Given the description of an element on the screen output the (x, y) to click on. 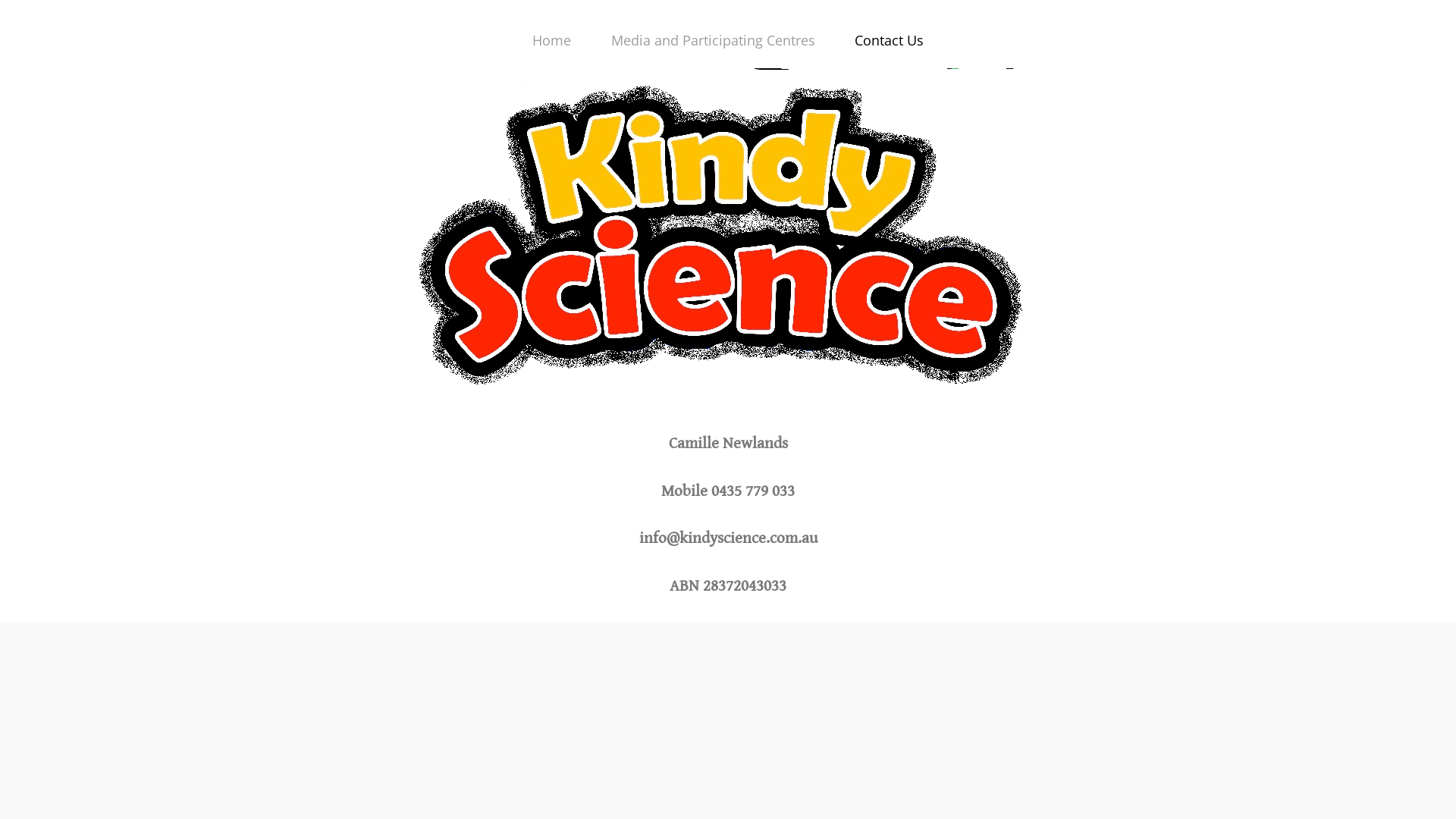
Contact Us Element type: text (888, 40)
Home Element type: text (551, 40)
Media and Participating Centres Element type: text (713, 40)
